Given the description of an element on the screen output the (x, y) to click on. 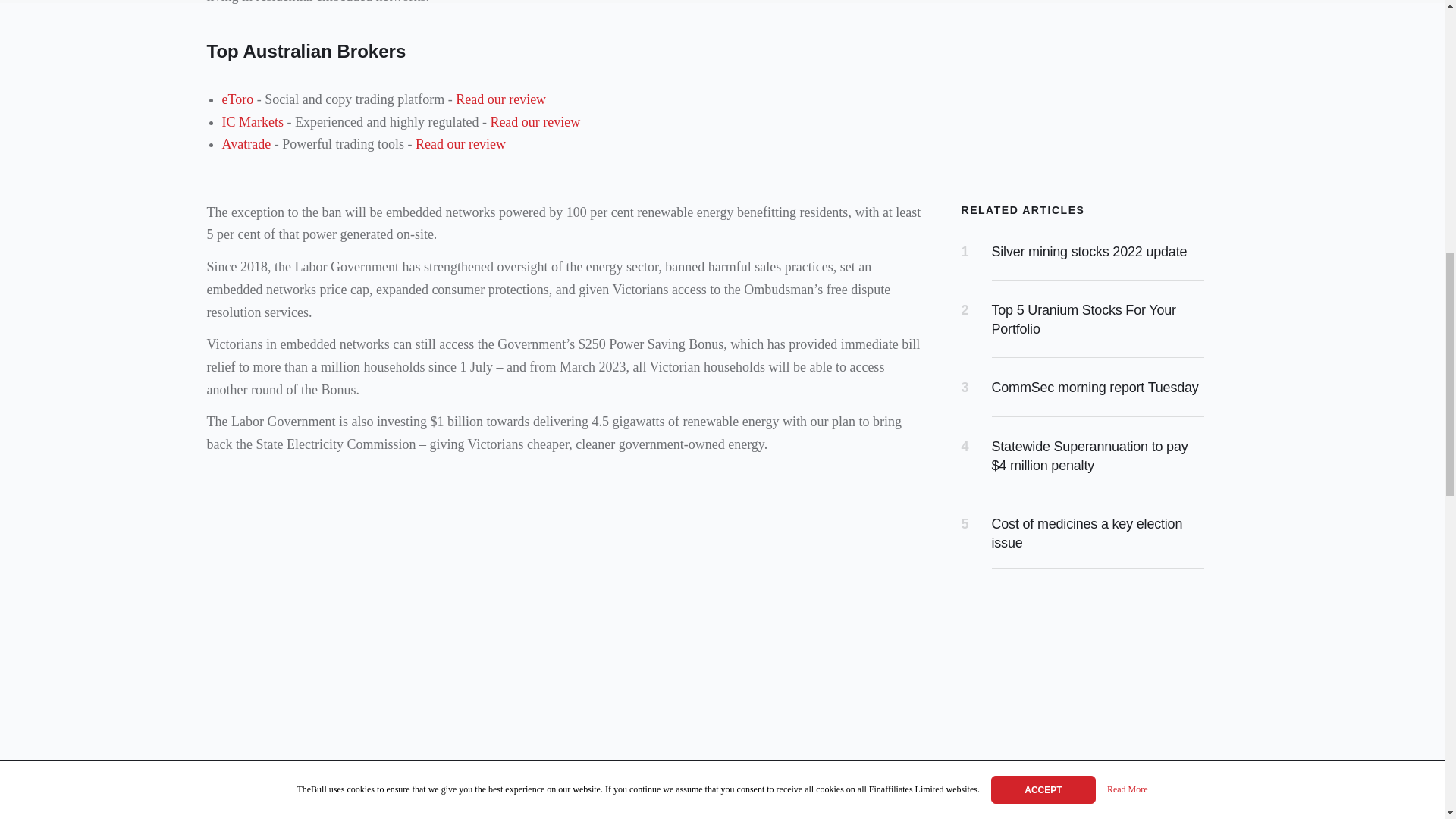
Read our review (459, 143)
IC Markets (251, 121)
Read our review (534, 121)
Cost of medicines a key election issue (1086, 533)
Silver mining stocks 2022 update (1089, 251)
Read our review (500, 99)
Silver mining stocks 2022 update (1089, 251)
Top 5 Uranium Stocks For Your Portfolio (1083, 319)
Avatrade (245, 143)
Top 5 Uranium Stocks For Your Portfolio (1083, 319)
CommSec morning report Tuesday (1094, 387)
eToro (237, 99)
CommSec morning report Tuesday (1094, 387)
Cost of medicines a key election issue (1086, 533)
